Given the description of an element on the screen output the (x, y) to click on. 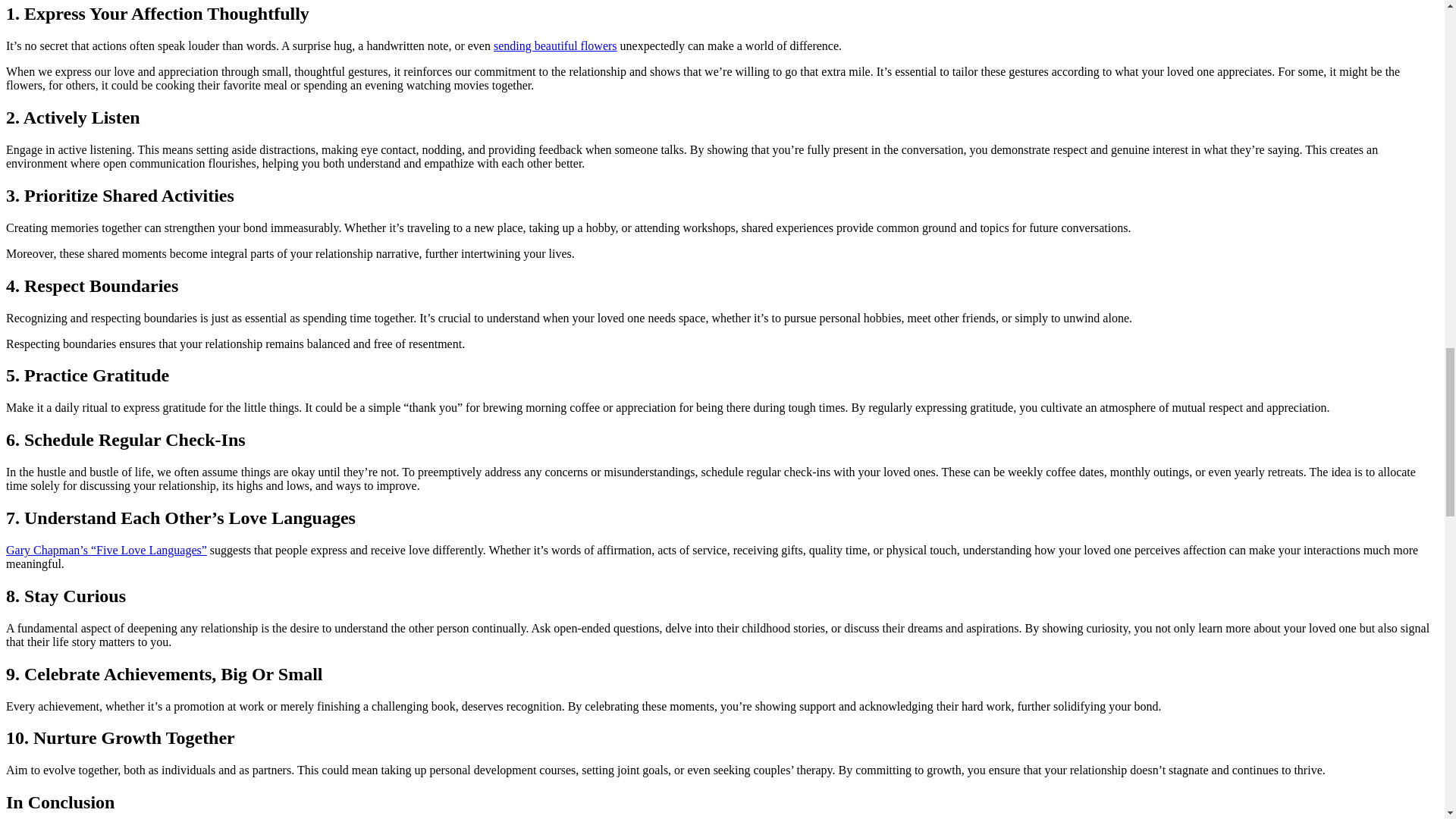
sending beautiful flowers (555, 45)
